Given the description of an element on the screen output the (x, y) to click on. 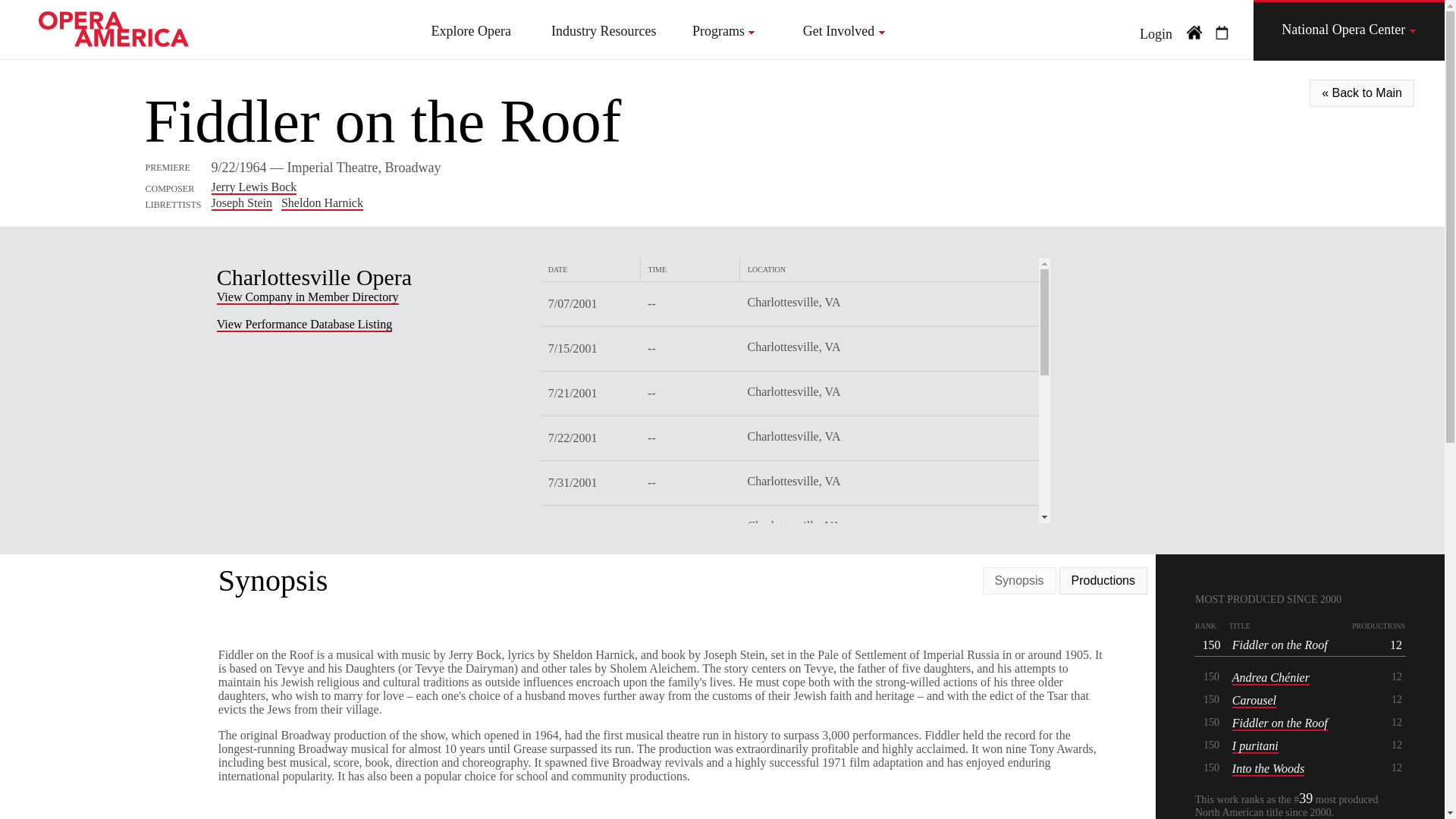
Login (1156, 34)
Synopsis (1019, 580)
OPERA America Mobile Menu (1194, 33)
Explore Opera (470, 31)
Get Involved (844, 31)
Industry Resources (603, 31)
Programs (724, 31)
Productions (1103, 580)
National Opera Center (1348, 29)
